Given the description of an element on the screen output the (x, y) to click on. 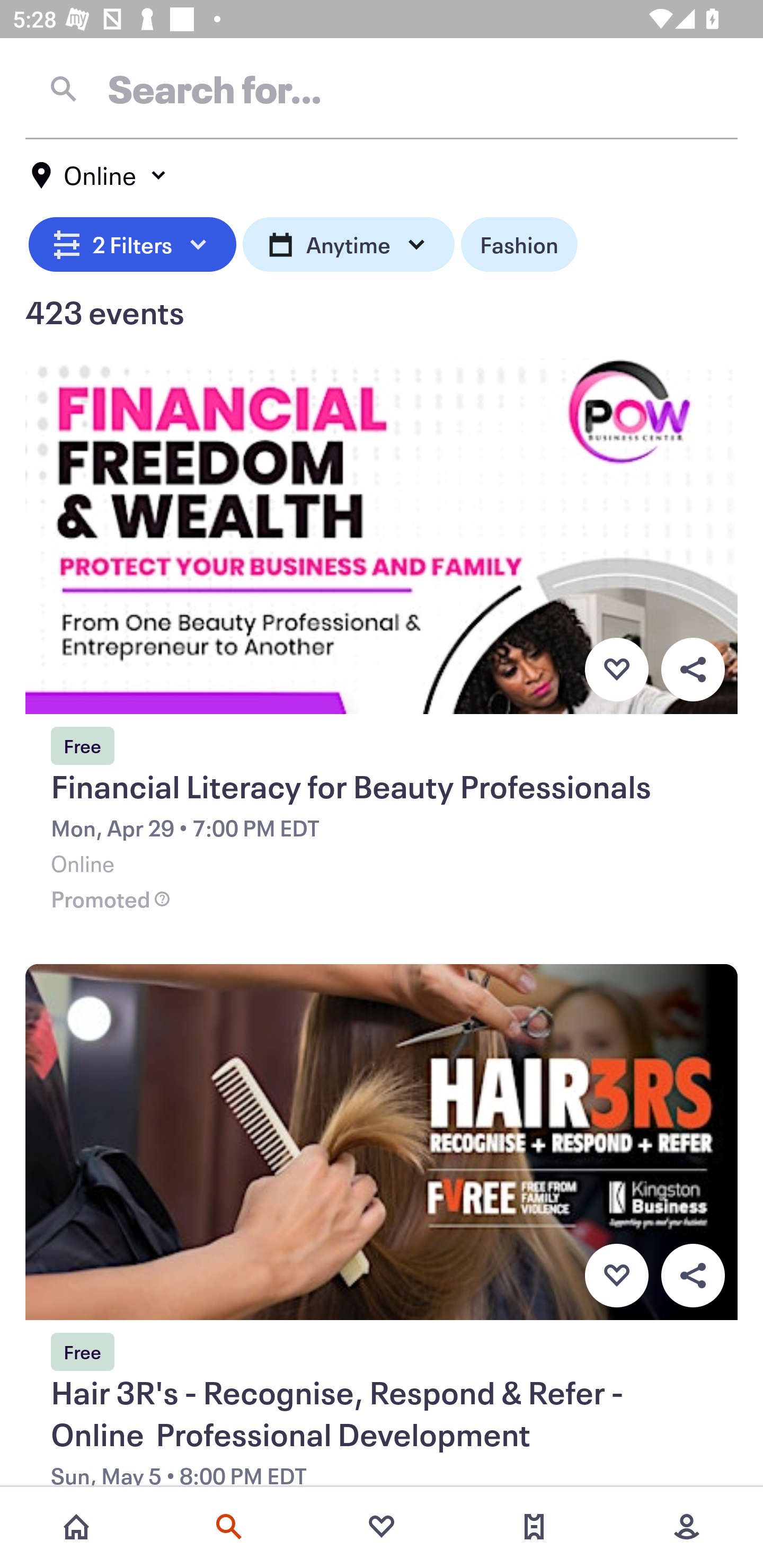
Search for… (381, 88)
Online (99, 175)
2 Filters (132, 241)
Anytime (348, 241)
Fashion (518, 241)
Favorite button (616, 669)
Overflow menu button (692, 669)
Favorite button (616, 1275)
Overflow menu button (692, 1275)
Home (76, 1526)
Search events (228, 1526)
Favorites (381, 1526)
Tickets (533, 1526)
More (686, 1526)
